Given the description of an element on the screen output the (x, y) to click on. 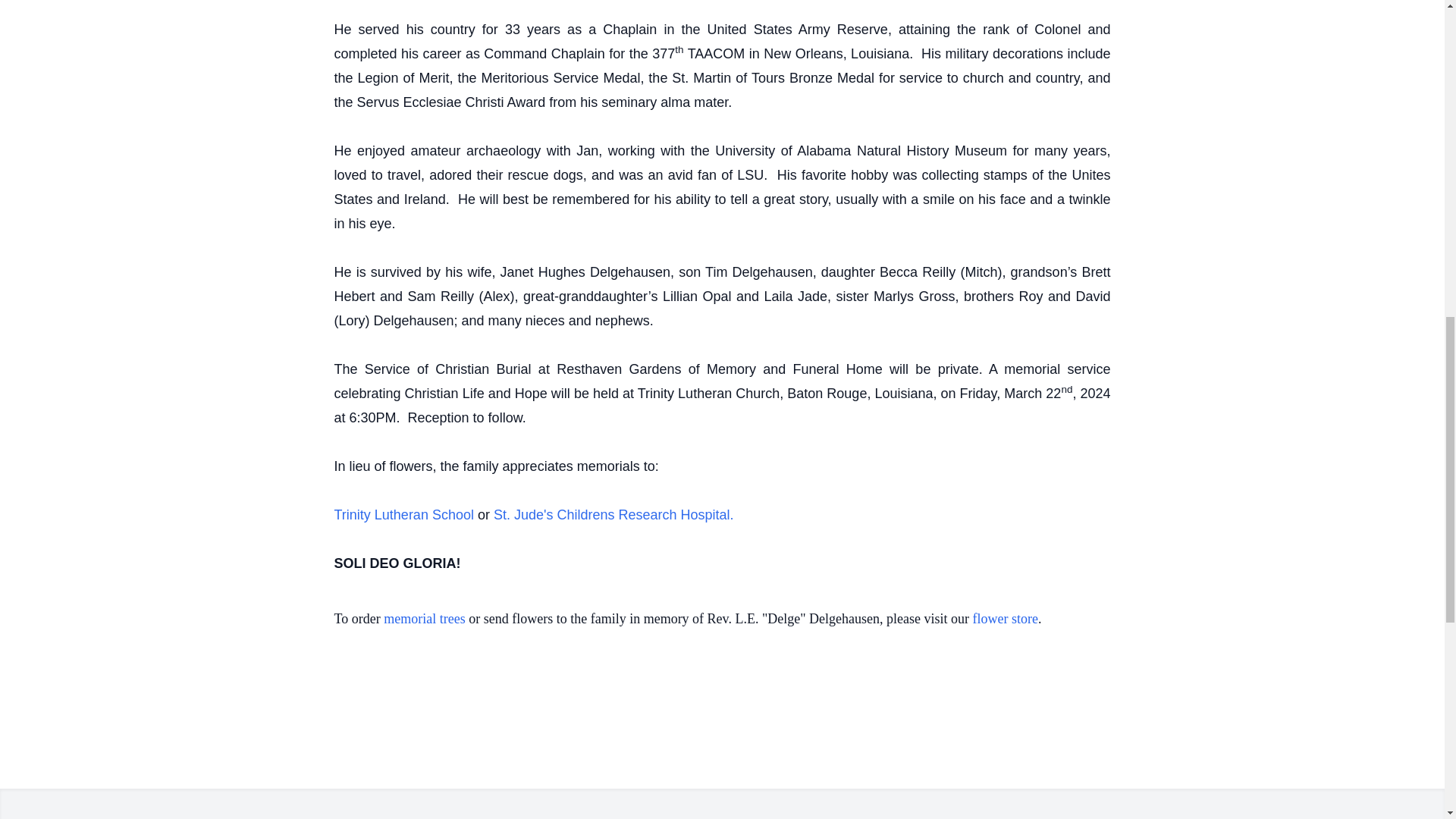
flower store (1005, 618)
Trinity Lutheran School (403, 514)
St. Jude's Childrens Research Hospital. (613, 514)
memorial trees (424, 618)
